Given the description of an element on the screen output the (x, y) to click on. 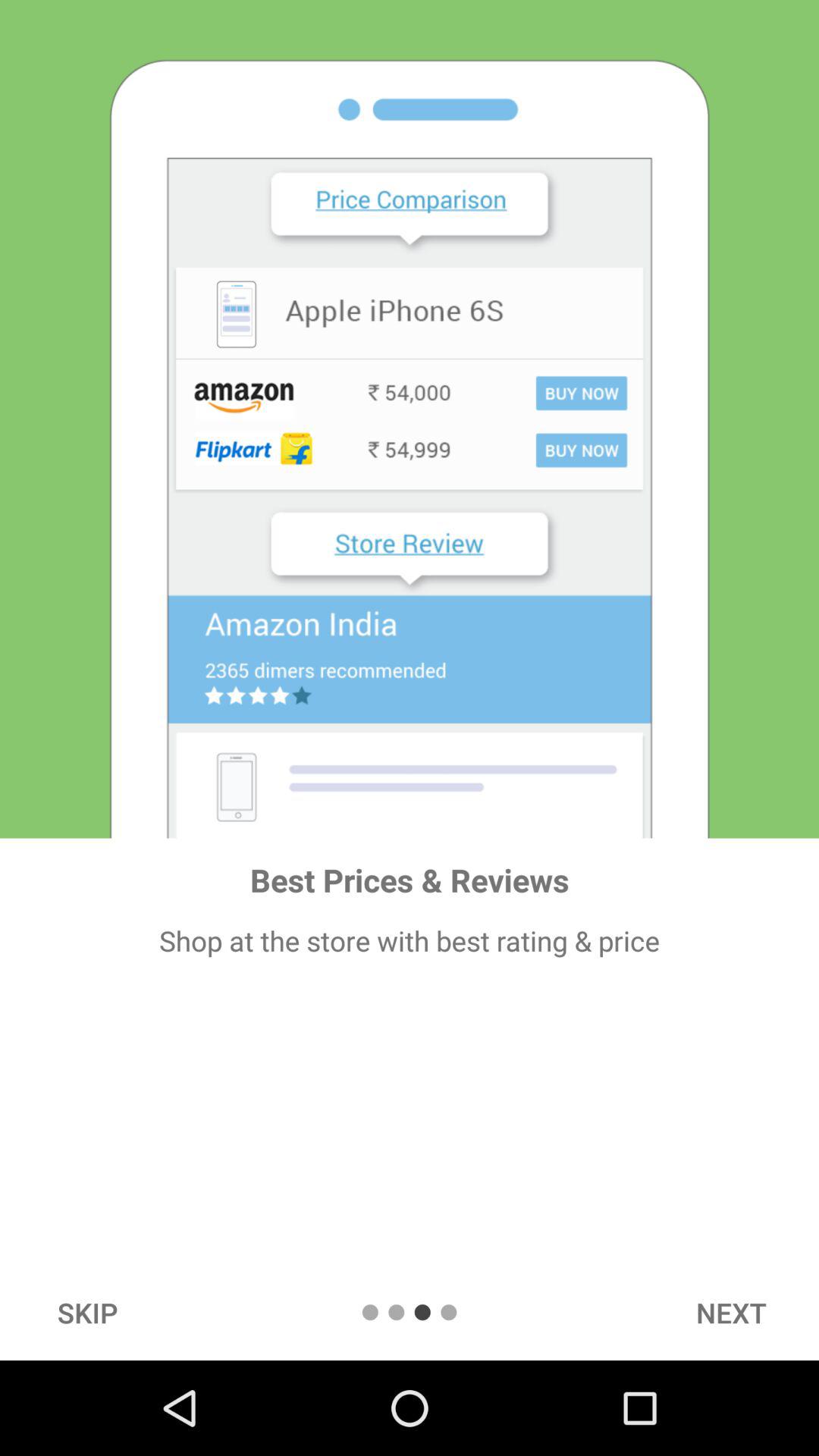
jump until the skip (87, 1312)
